Given the description of an element on the screen output the (x, y) to click on. 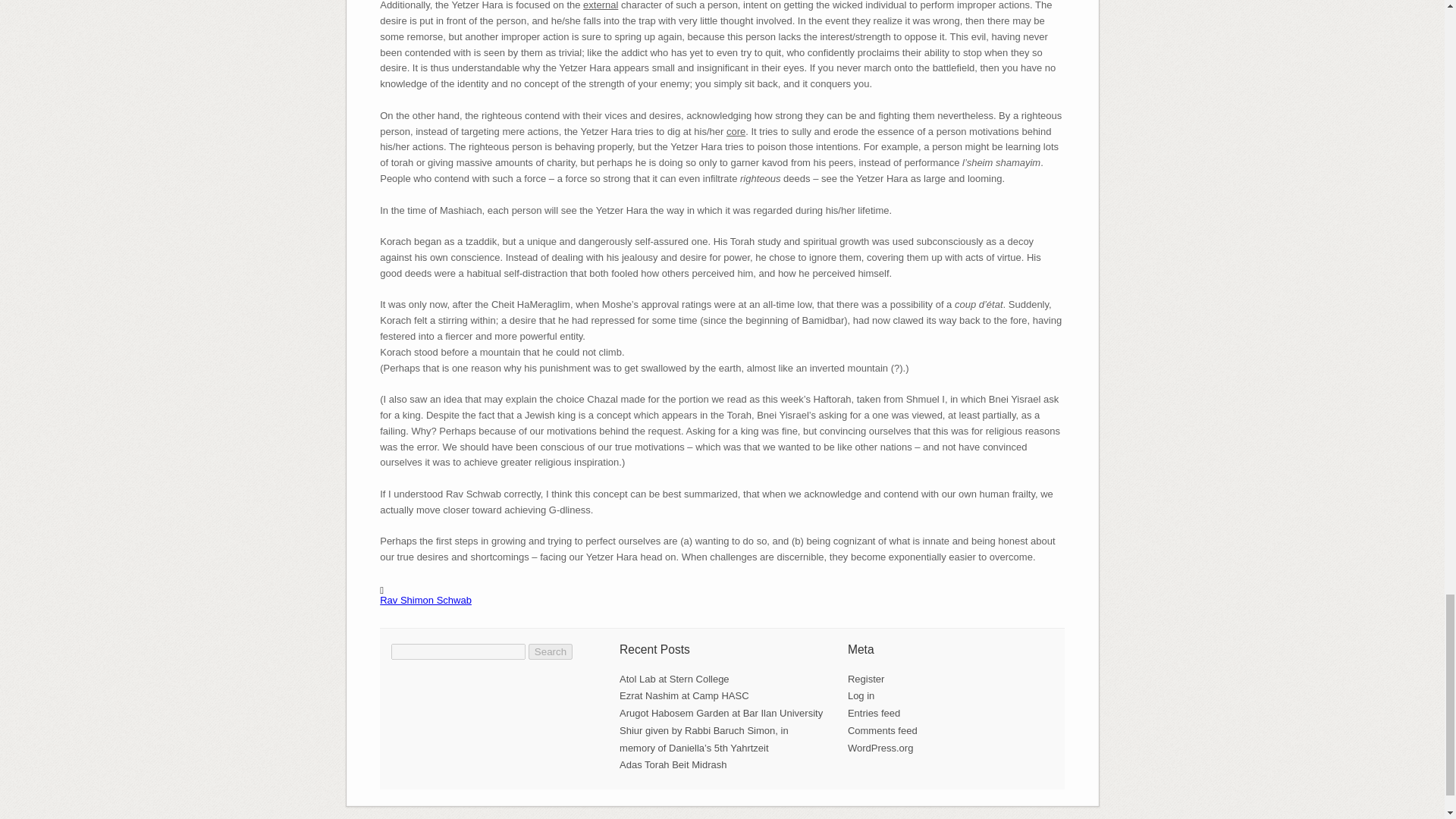
Search (550, 651)
